Given the description of an element on the screen output the (x, y) to click on. 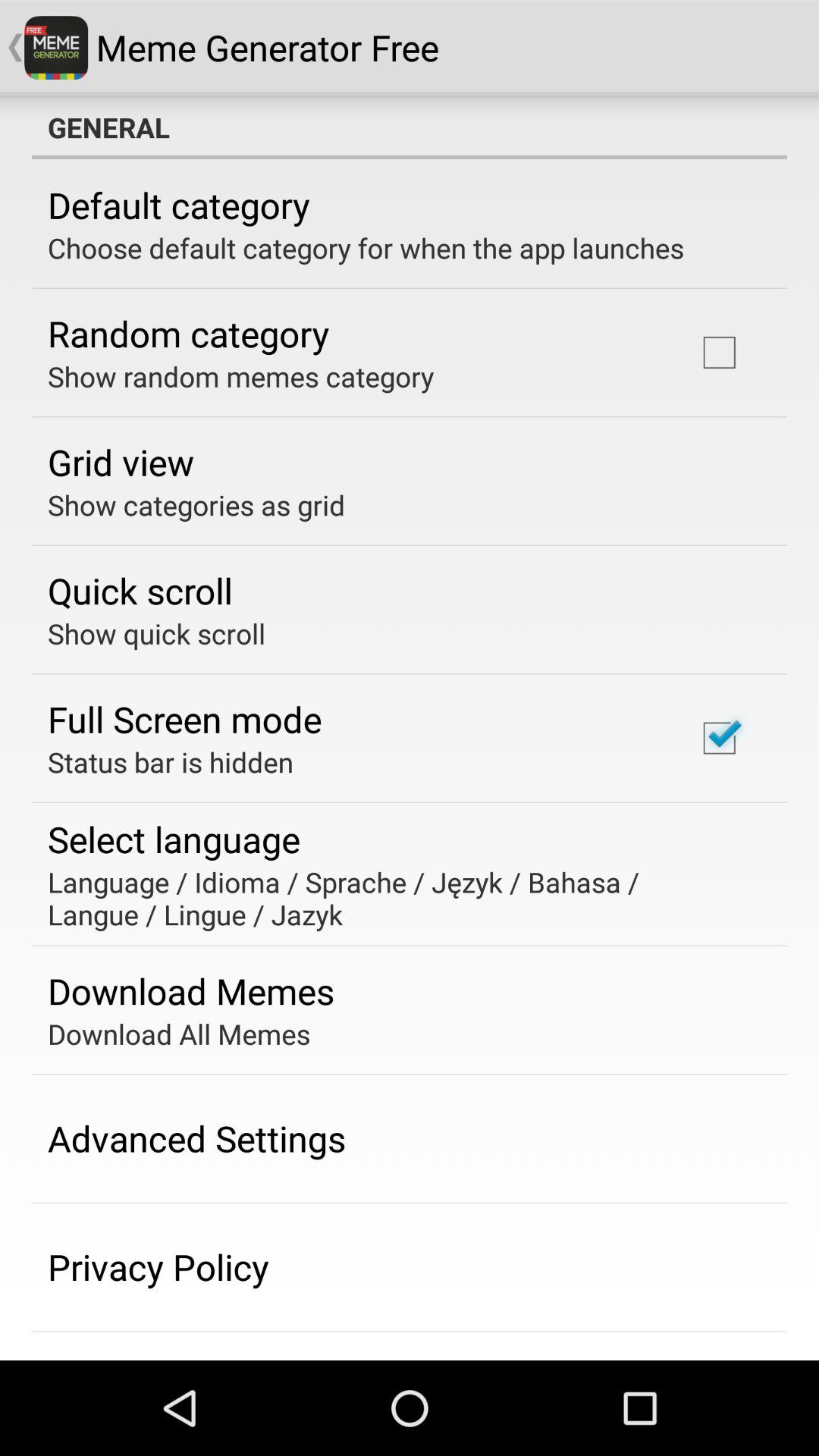
tap language idioma sprache item (399, 898)
